Given the description of an element on the screen output the (x, y) to click on. 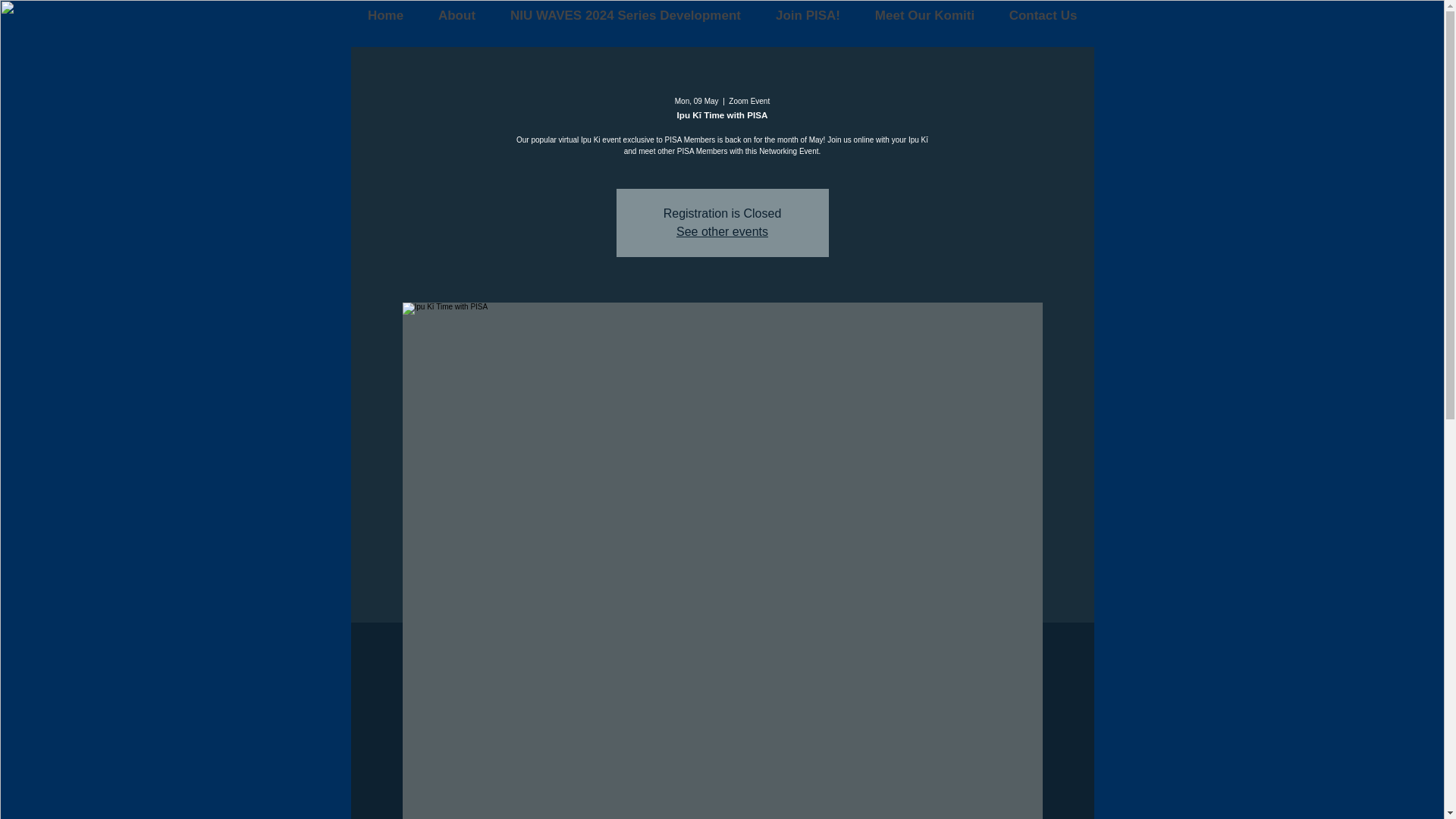
About (456, 15)
Home (385, 15)
Meet Our Komiti (924, 15)
See other events (722, 231)
NIU WAVES 2024 Series Development (625, 15)
Contact Us (1042, 15)
Join PISA! (807, 15)
